Given the description of an element on the screen output the (x, y) to click on. 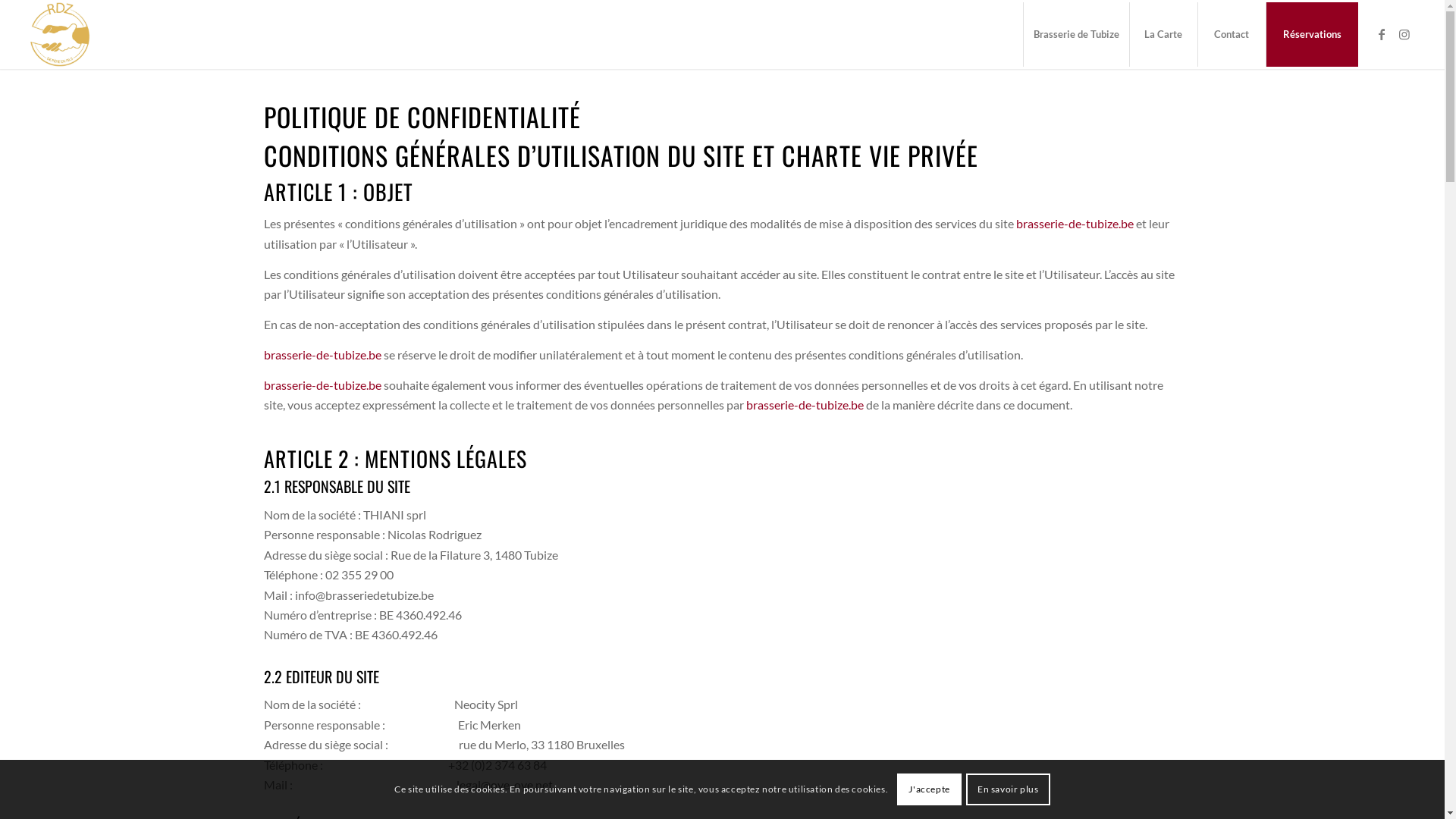
J'accepte Element type: text (929, 789)
Facebook Element type: hover (1381, 33)
Brasserie de Tubize Element type: text (1075, 34)
brasserie-de-tubize.be Element type: text (804, 404)
brasserie-de-tubize.be Element type: text (1074, 223)
brasserie-de-tubize.be Element type: text (322, 384)
Contact Element type: text (1231, 34)
La Carte Element type: text (1163, 34)
brasserie-de-tubize.be Element type: text (322, 354)
Instagram Element type: hover (1404, 33)
En savoir plus Element type: text (1008, 789)
